Given the description of an element on the screen output the (x, y) to click on. 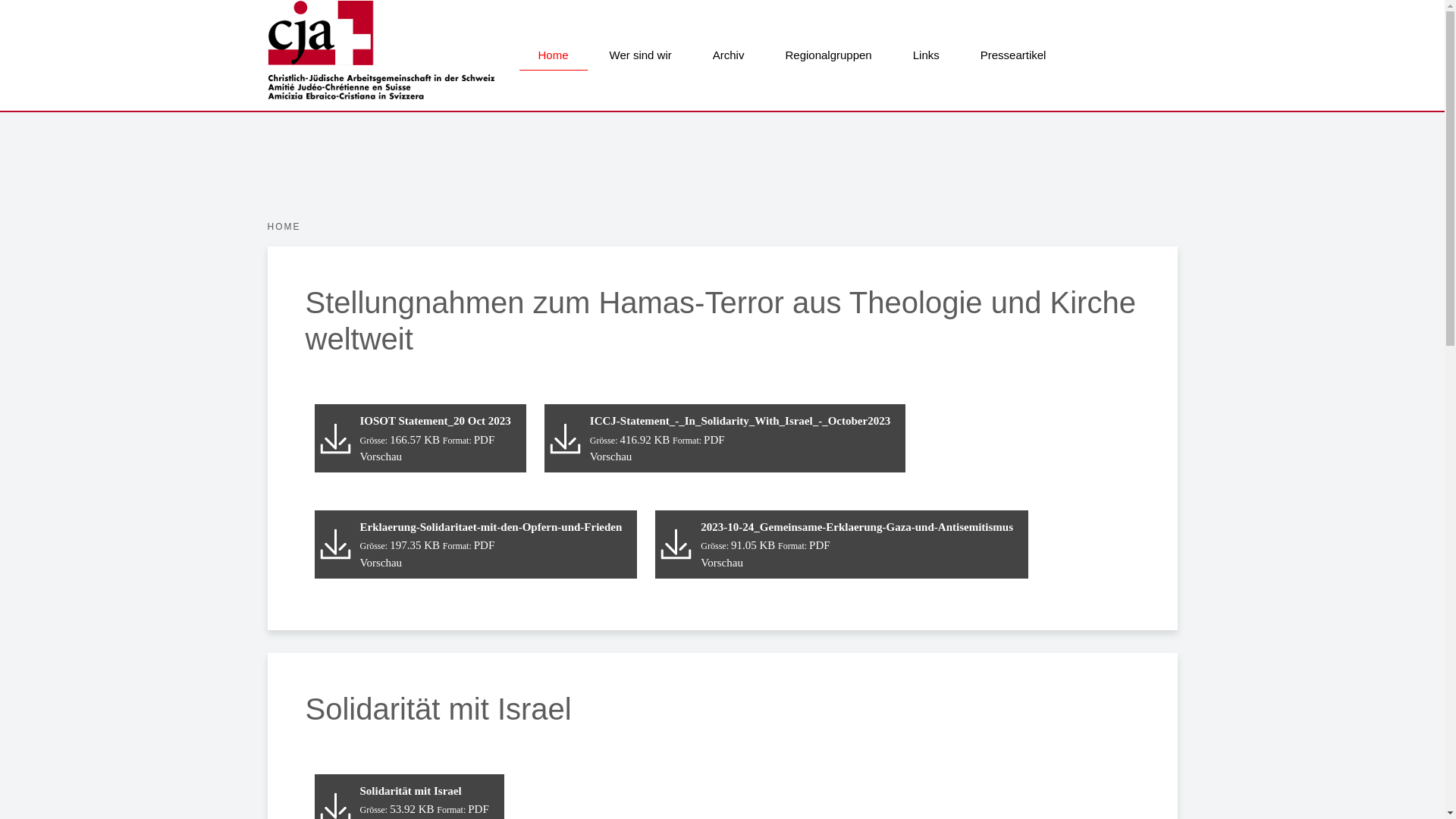
Vorschau Element type: text (610, 456)
Links Element type: text (926, 55)
Wer sind wir Element type: text (640, 55)
Regionalgruppen Element type: text (827, 55)
Home Element type: text (552, 55)
Vorschau Element type: text (380, 456)
Presseartikel Element type: text (1013, 55)
Vorschau Element type: text (721, 562)
Archiv Element type: text (728, 55)
Vorschau Element type: text (380, 562)
